Given the description of an element on the screen output the (x, y) to click on. 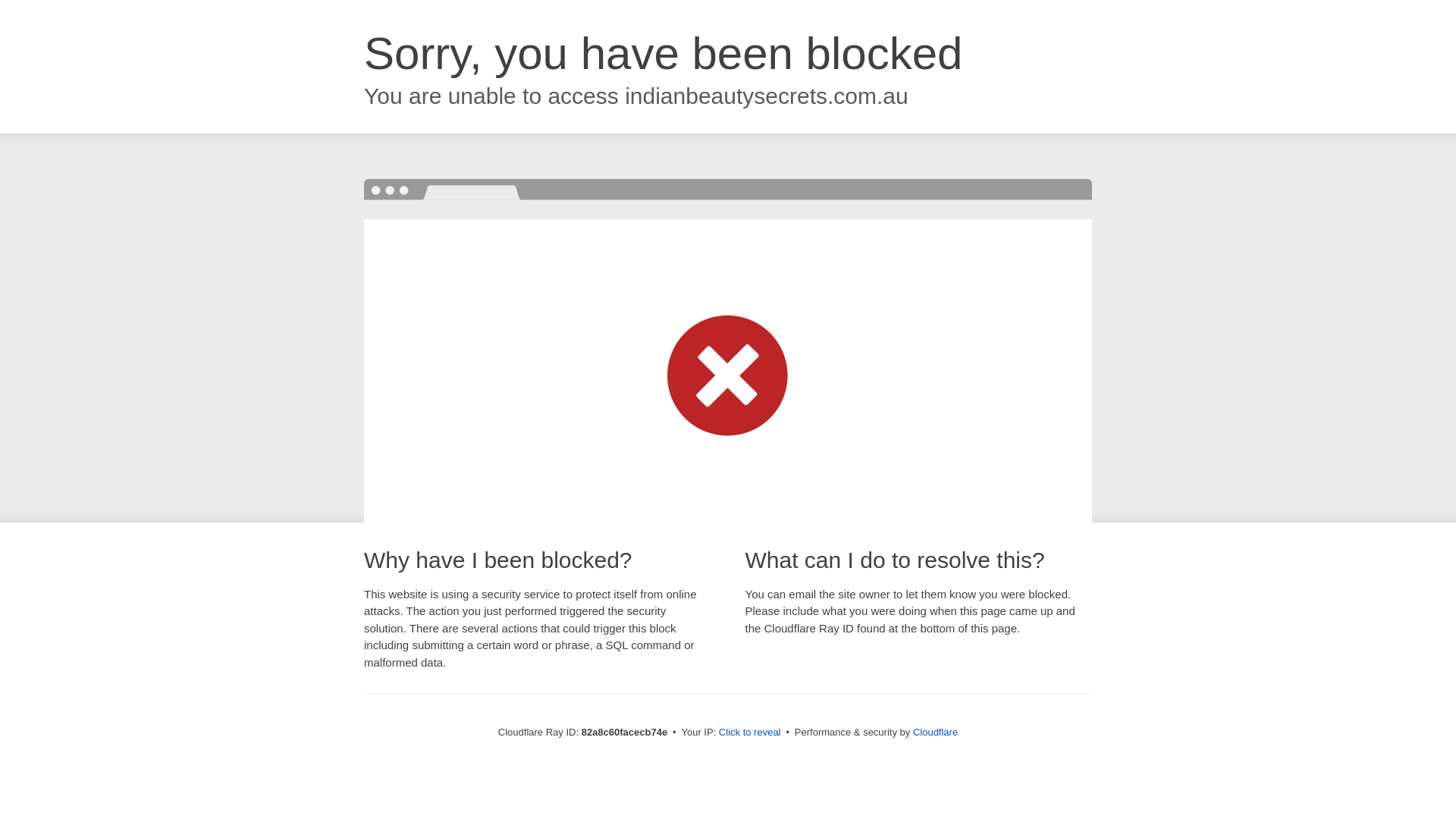
Click to reveal Element type: text (749, 732)
Cloudflare Element type: text (935, 731)
